Given the description of an element on the screen output the (x, y) to click on. 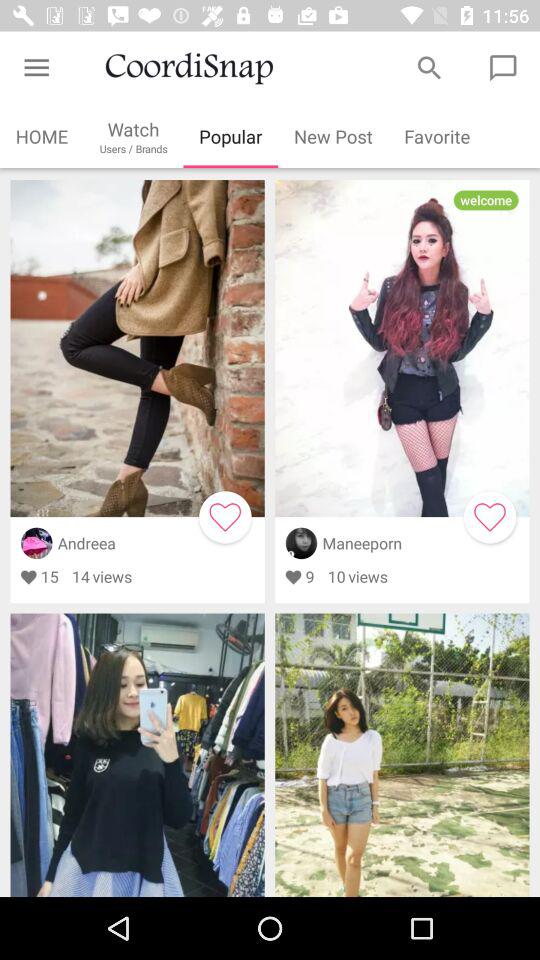
like option (489, 517)
